Given the description of an element on the screen output the (x, y) to click on. 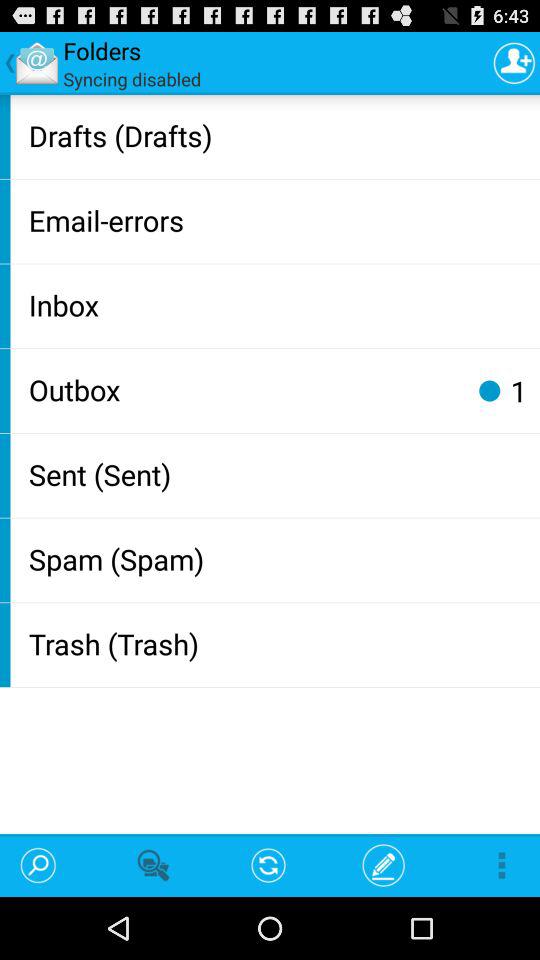
open the app above the sent (sent) icon (518, 390)
